Given the description of an element on the screen output the (x, y) to click on. 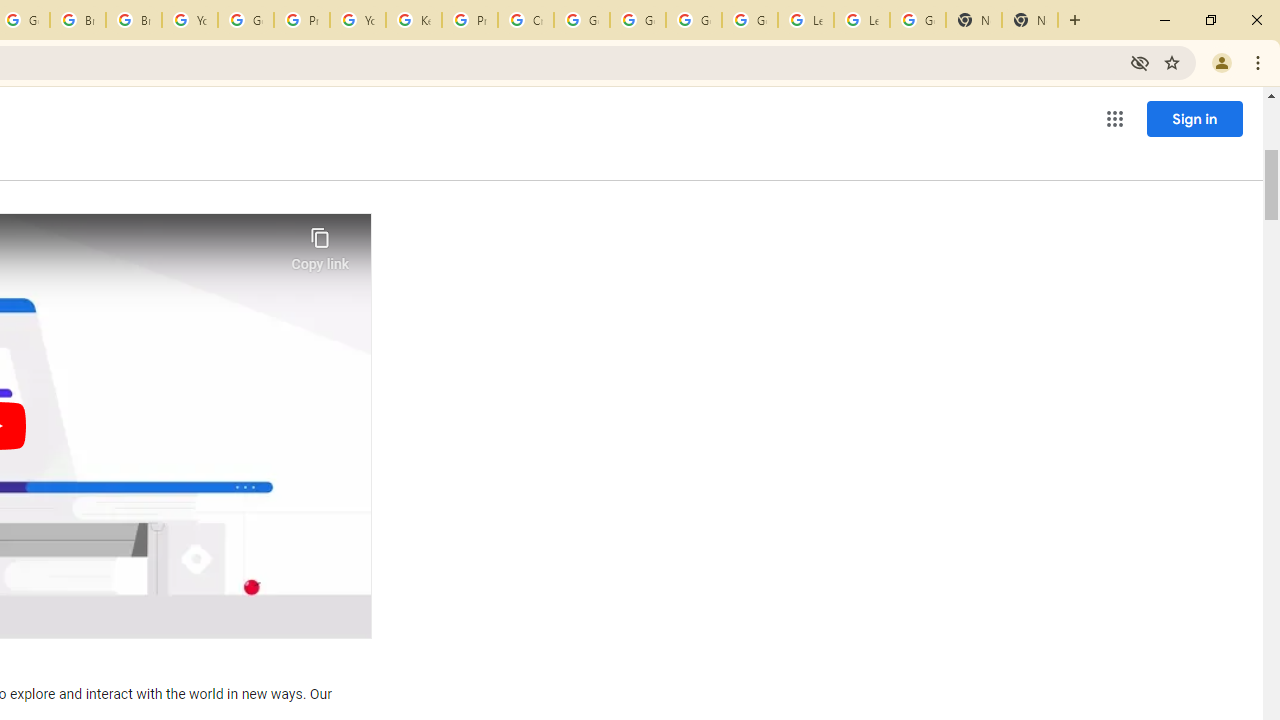
Google Account Help (637, 20)
Google Account Help (582, 20)
Brand Resource Center (77, 20)
New Tab (1030, 20)
YouTube (189, 20)
Google Account Help (693, 20)
Copy link (319, 244)
Create your Google Account (525, 20)
